Given the description of an element on the screen output the (x, y) to click on. 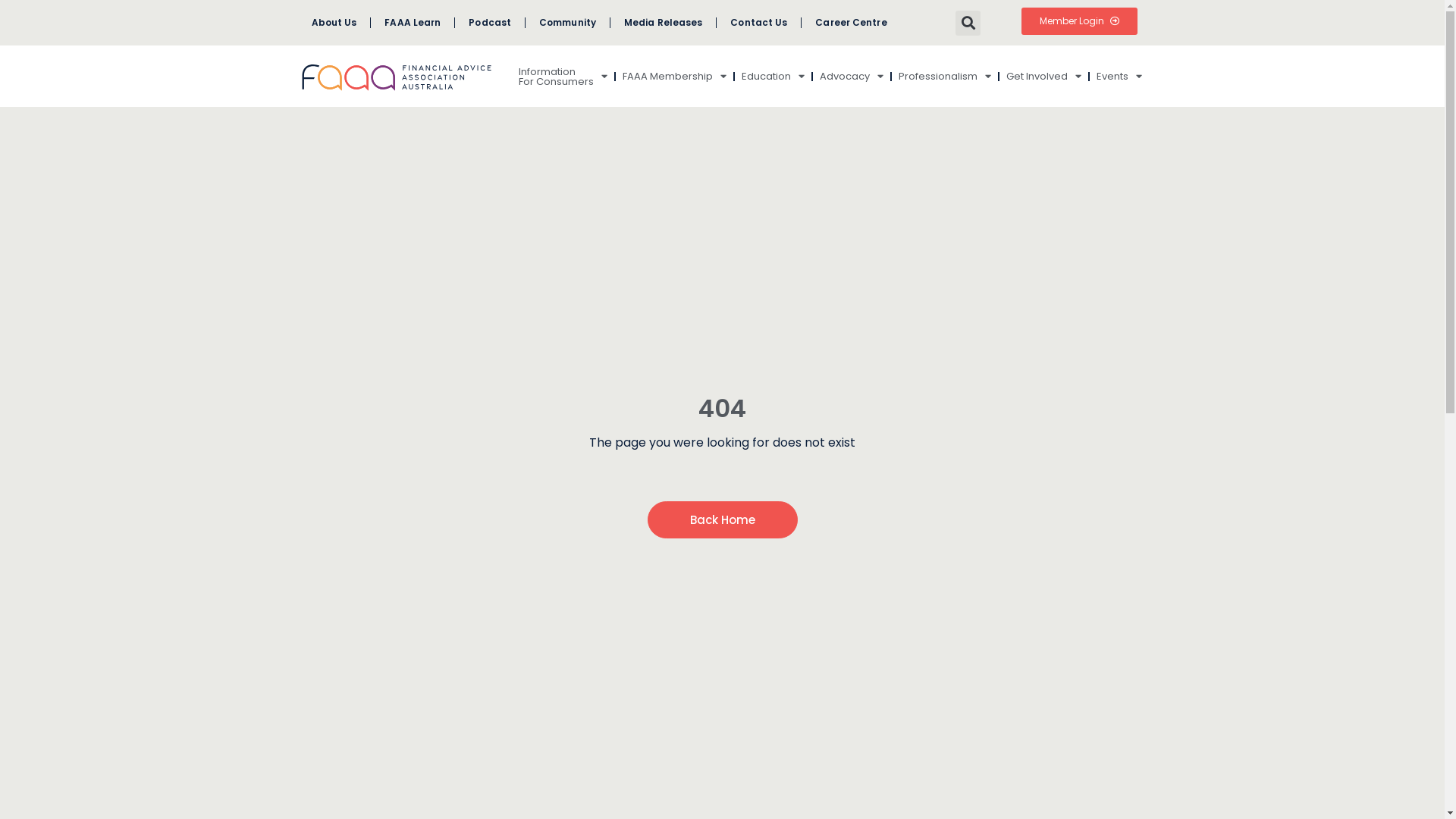
Contact Us Element type: text (758, 22)
Member Login Element type: text (1079, 20)
Back Home Element type: text (722, 519)
Information
For Consumers Element type: text (562, 76)
Education Element type: text (772, 76)
Advocacy Element type: text (851, 76)
Community Element type: text (567, 22)
Media Releases Element type: text (662, 22)
Career Centre Element type: text (850, 22)
FAAA Learn Element type: text (412, 22)
Events Element type: text (1119, 76)
Podcast Element type: text (489, 22)
Professionalism Element type: text (944, 76)
FAAA Membership Element type: text (674, 76)
About Us Element type: text (333, 22)
Get Involved Element type: text (1043, 76)
